Given the description of an element on the screen output the (x, y) to click on. 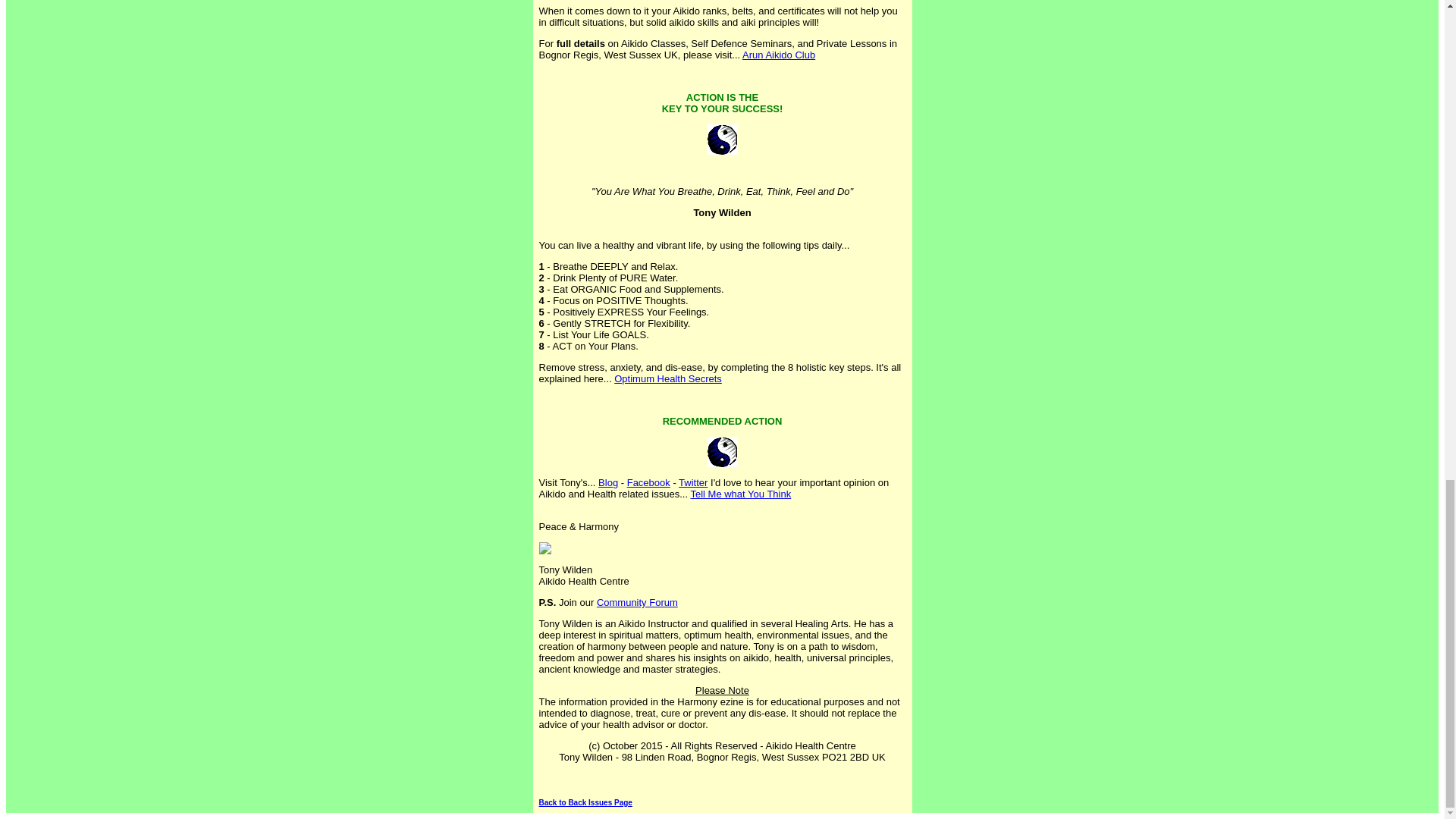
Facebook (648, 482)
Tell Me what You Think (740, 493)
Arun Aikido Club (778, 54)
Community Forum (637, 602)
Back to Back Issues Page (584, 802)
Twitter (692, 482)
Optimum Health Secrets (668, 378)
Blog (607, 482)
